Given the description of an element on the screen output the (x, y) to click on. 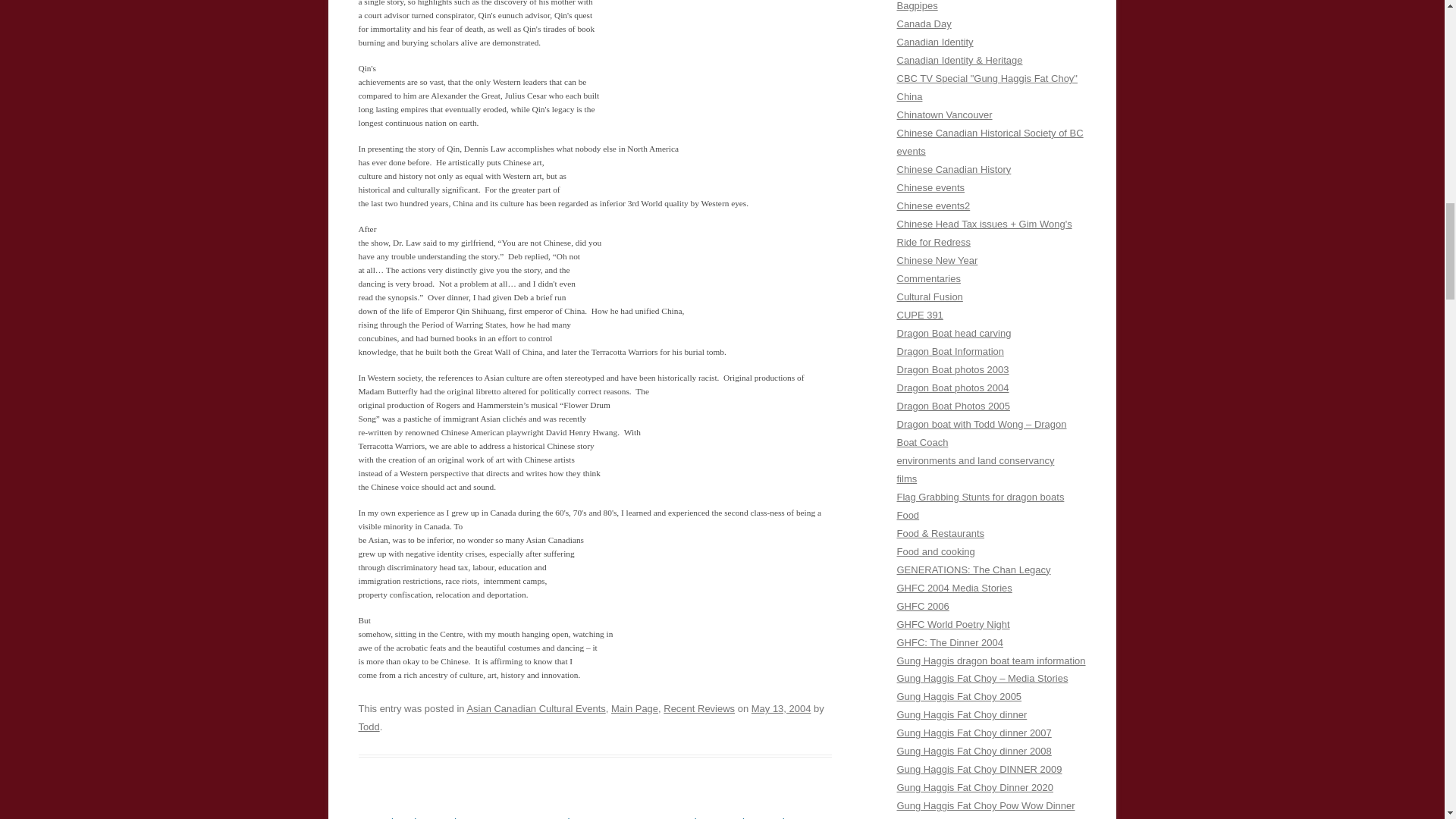
Main Page (634, 708)
Asian Canadian Cultural Events (535, 708)
May 13, 2004 (780, 708)
Todd (368, 726)
7:26 AM (780, 708)
View all posts by Todd (368, 726)
Recent Reviews (699, 708)
